Given the description of an element on the screen output the (x, y) to click on. 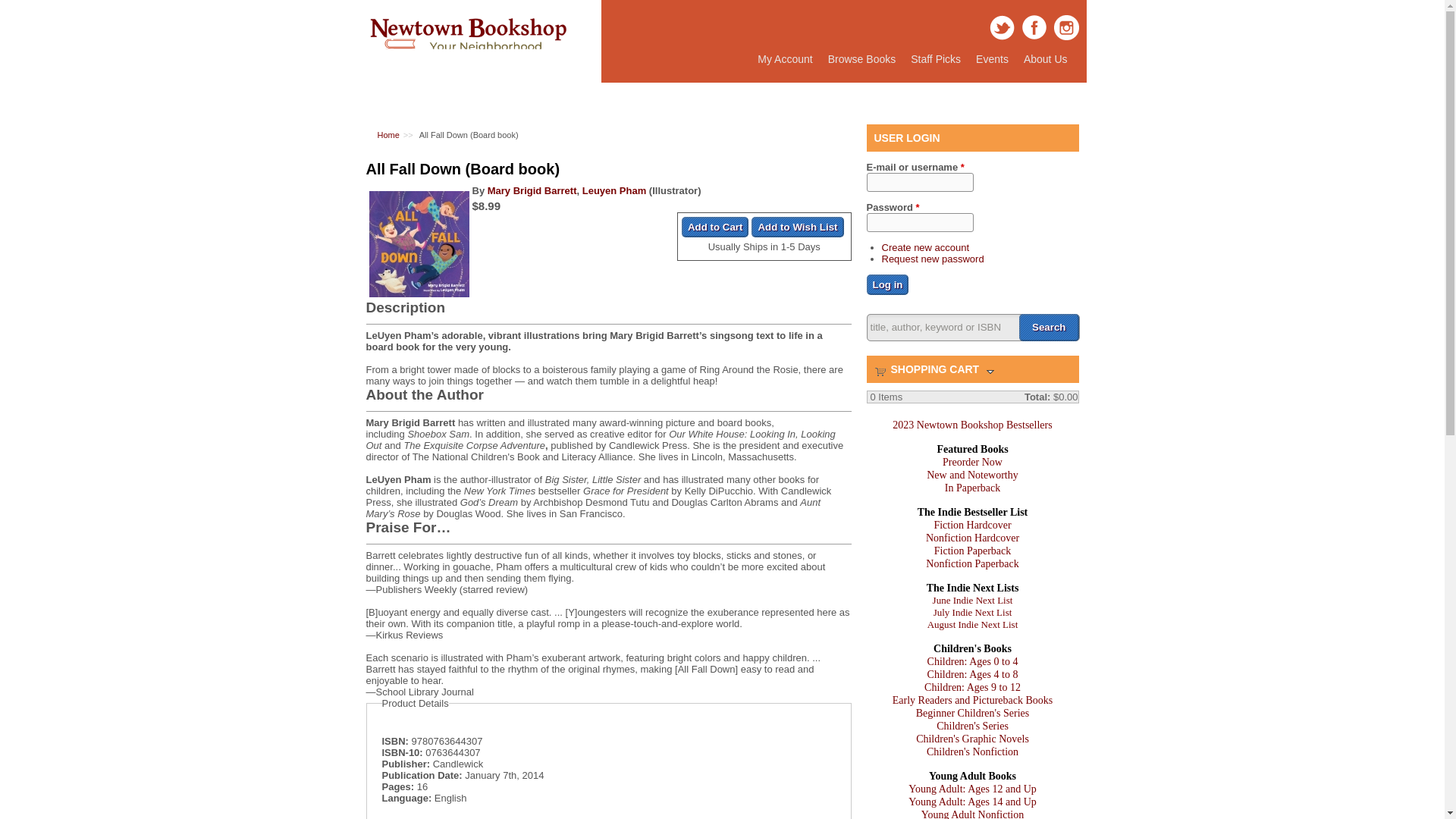
Fiction Hardcover (971, 524)
Log in (887, 284)
June Indie Next List (973, 600)
Create a new user account. (924, 247)
August Indie Next List (972, 624)
Enter the terms you wish to search for. (972, 327)
Add to Cart (715, 227)
Staff Picks (935, 58)
Request new password via e-mail. (932, 258)
Events (992, 58)
Home (387, 134)
Early Readers and Pictureback Books (972, 699)
Children: Ages 9 to 12 (972, 686)
July Indie Next List (972, 612)
